Given the description of an element on the screen output the (x, y) to click on. 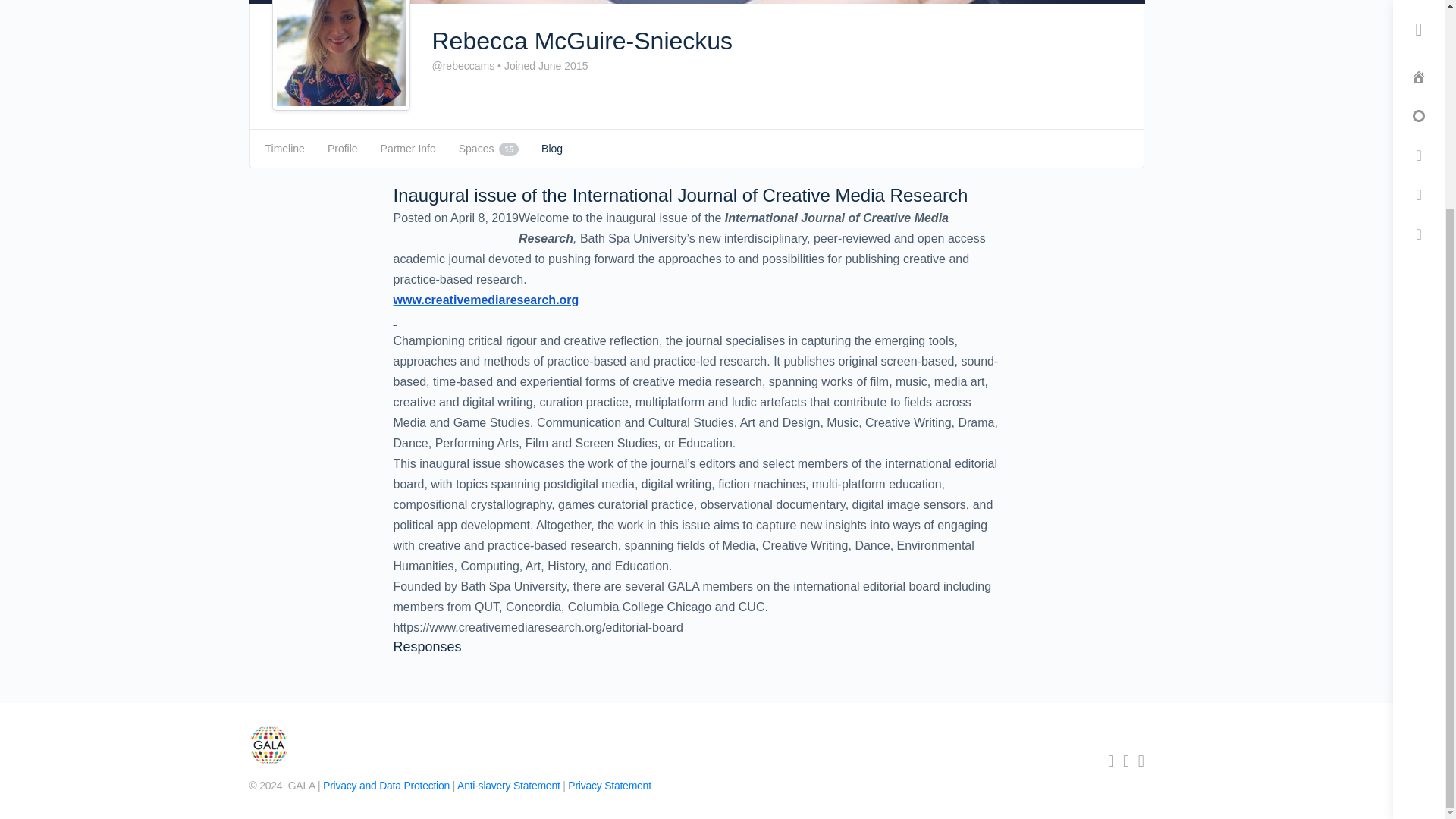
Timeline (284, 148)
